Given the description of an element on the screen output the (x, y) to click on. 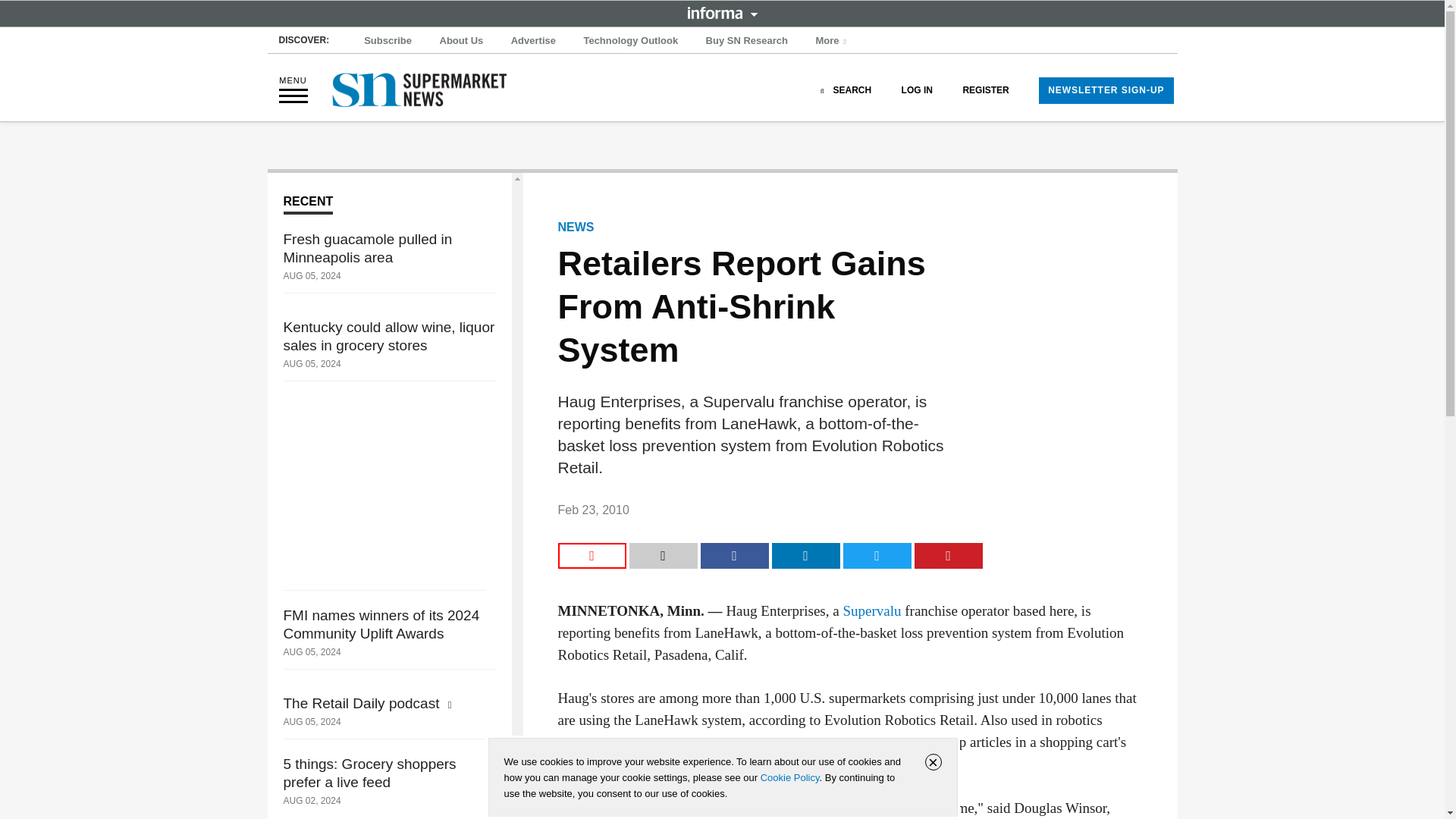
More (832, 41)
Cookie Policy (789, 777)
Buy SN Research (746, 41)
Subscribe (387, 41)
Advertise (533, 41)
Technology Outlook (630, 41)
INFORMA (722, 12)
About Us (461, 41)
